Given the description of an element on the screen output the (x, y) to click on. 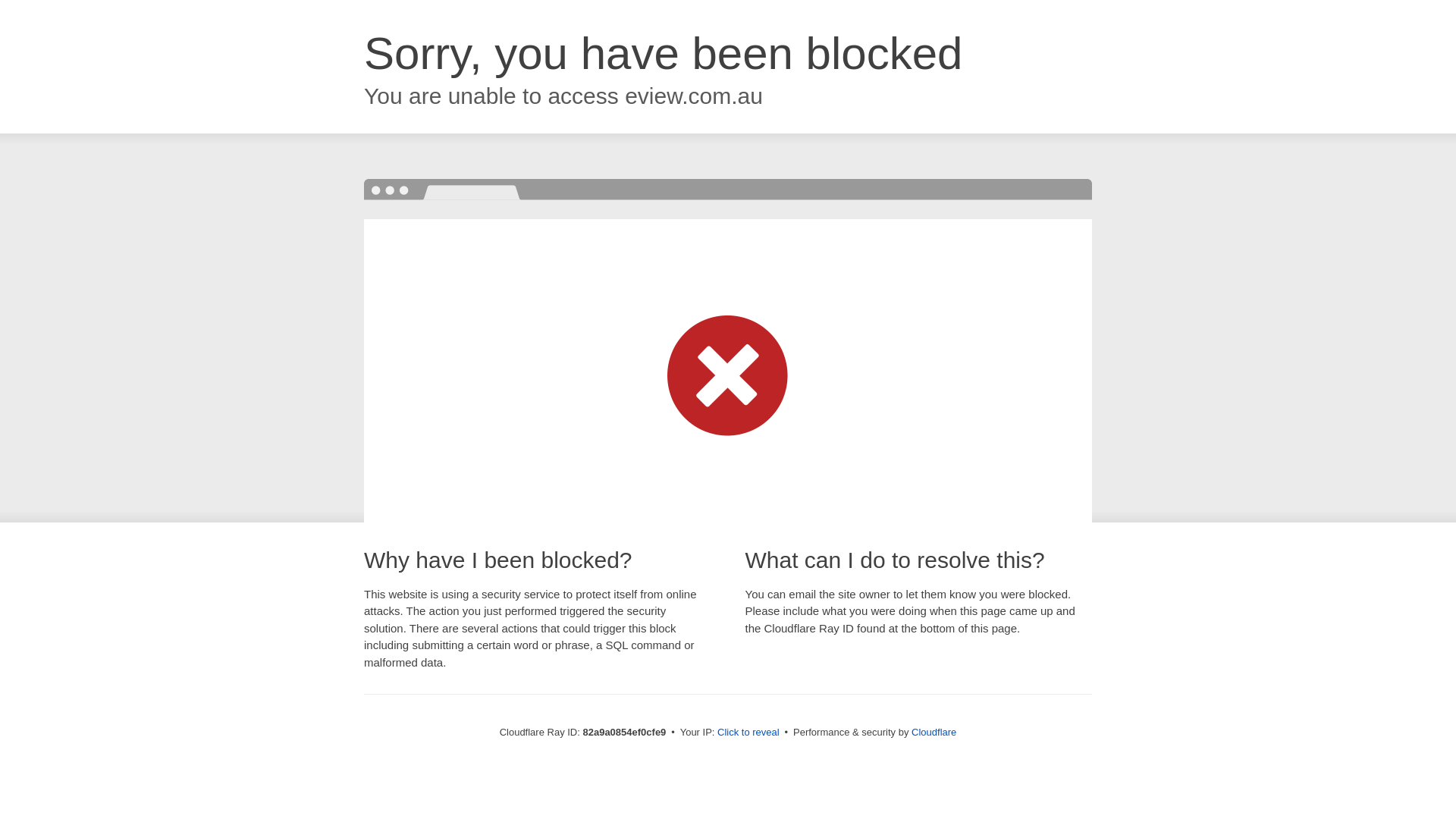
Cloudflare Element type: text (933, 731)
Click to reveal Element type: text (748, 732)
